Given the description of an element on the screen output the (x, y) to click on. 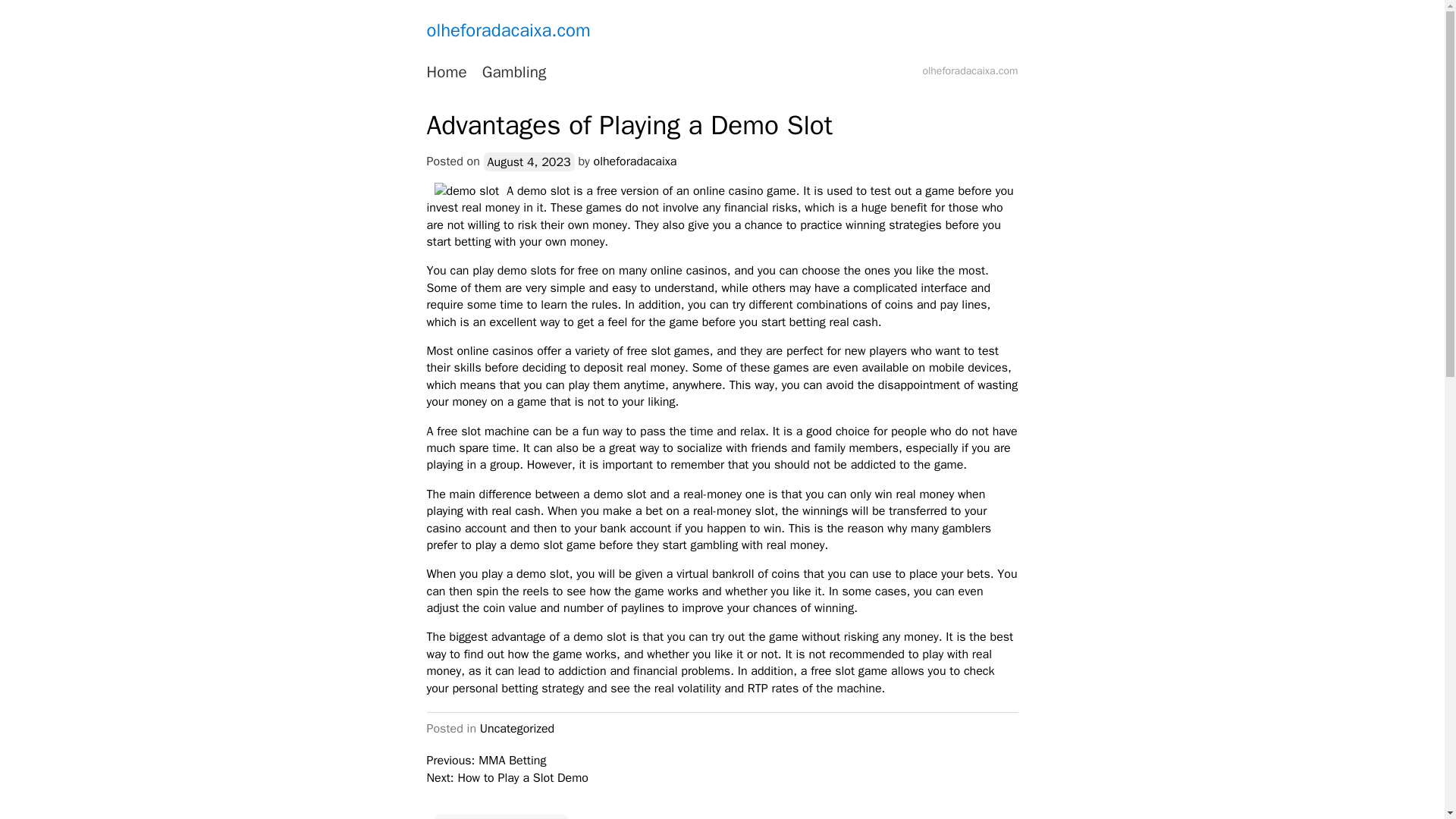
Uncategorized (517, 728)
August 4, 2023 (529, 161)
Home (445, 73)
olheforadacaixa.com (507, 29)
Previous: MMA Betting (486, 760)
Next: How to Play a Slot Demo (507, 777)
Gambling (514, 73)
